Given the description of an element on the screen output the (x, y) to click on. 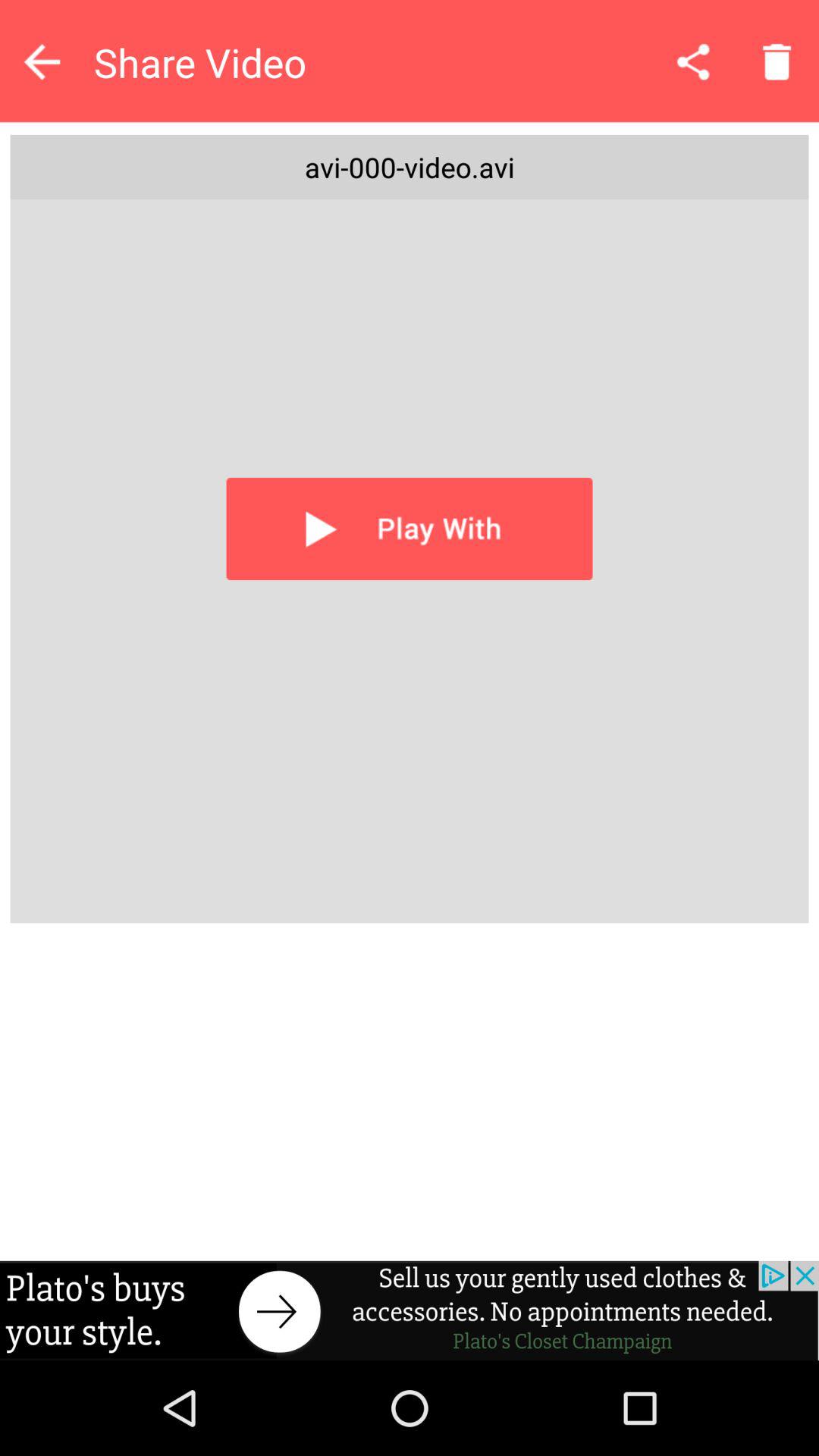
share the video (693, 61)
